Given the description of an element on the screen output the (x, y) to click on. 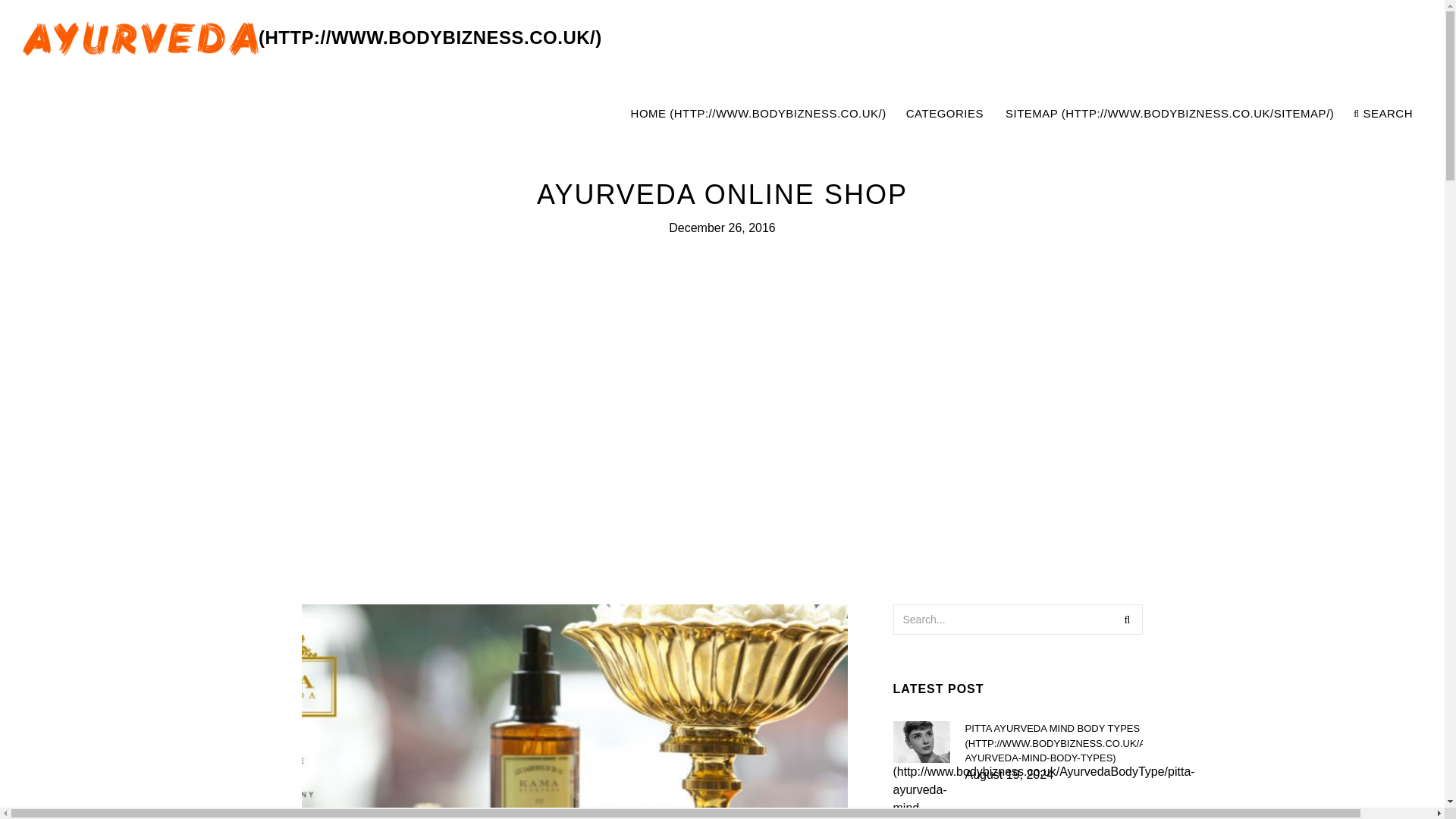
PITTA AYURVEDA MIND BODY TYPES (1052, 743)
SITEMAP (1168, 113)
SEARCH (1382, 113)
CATEGORIES (945, 113)
Search (1126, 619)
HOME (758, 113)
Ayurveda (1021, 113)
